Given the description of an element on the screen output the (x, y) to click on. 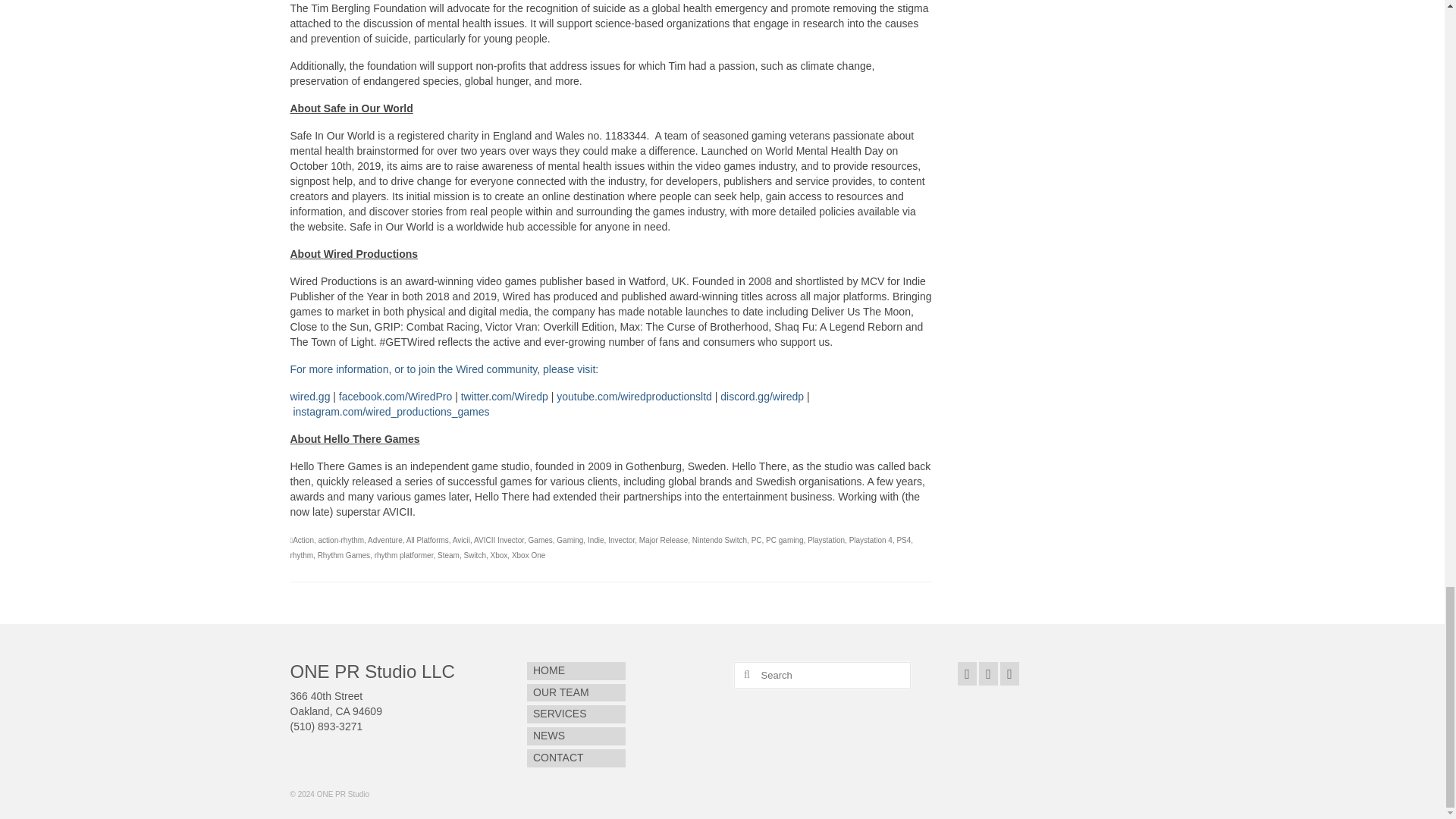
Action (303, 540)
Avicii (461, 540)
All Platforms (427, 540)
action-rhythm (341, 540)
Adventure (385, 540)
wired.gg (309, 396)
